Given the description of an element on the screen output the (x, y) to click on. 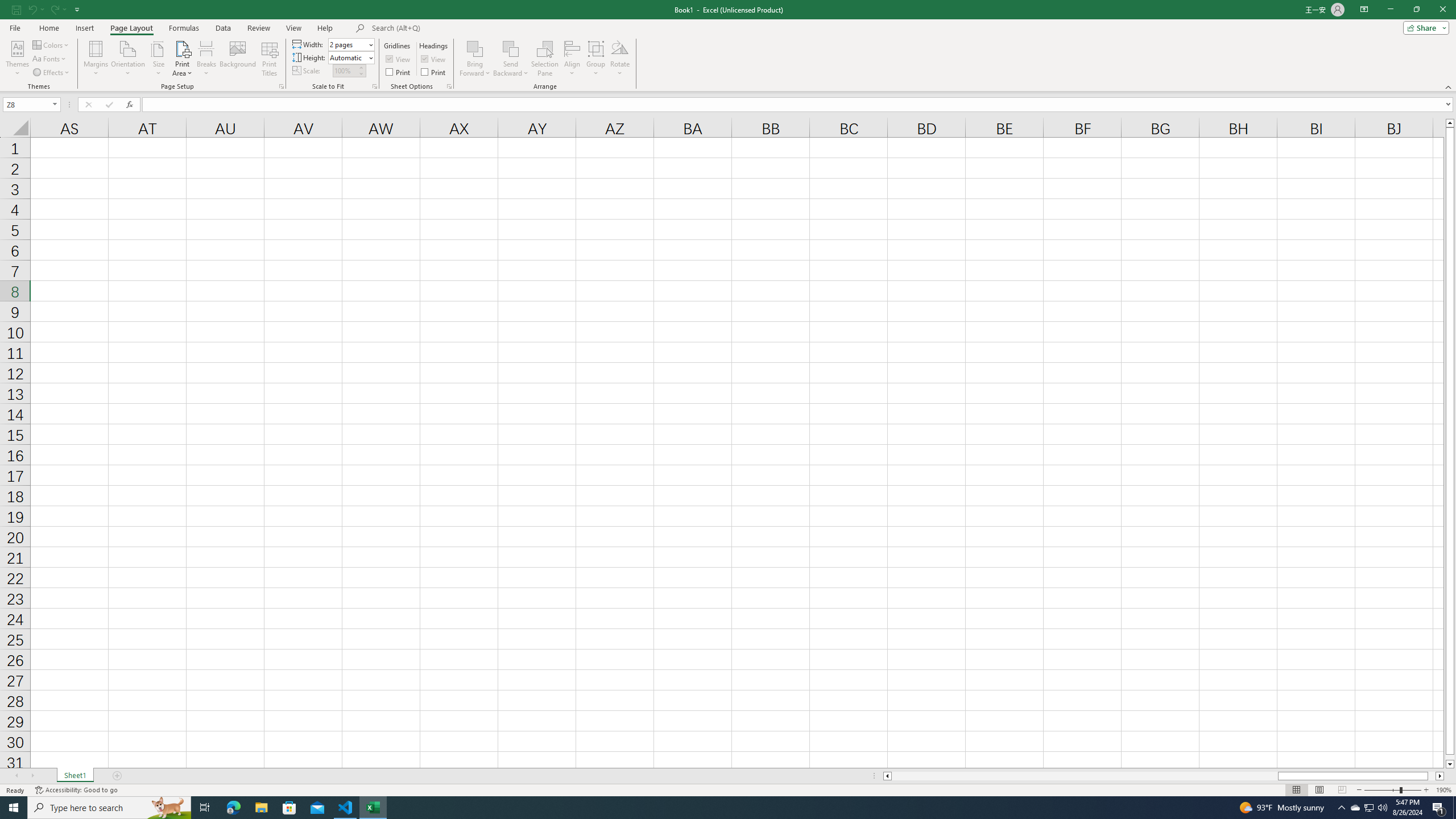
Themes (17, 58)
Less (360, 73)
